Given the description of an element on the screen output the (x, y) to click on. 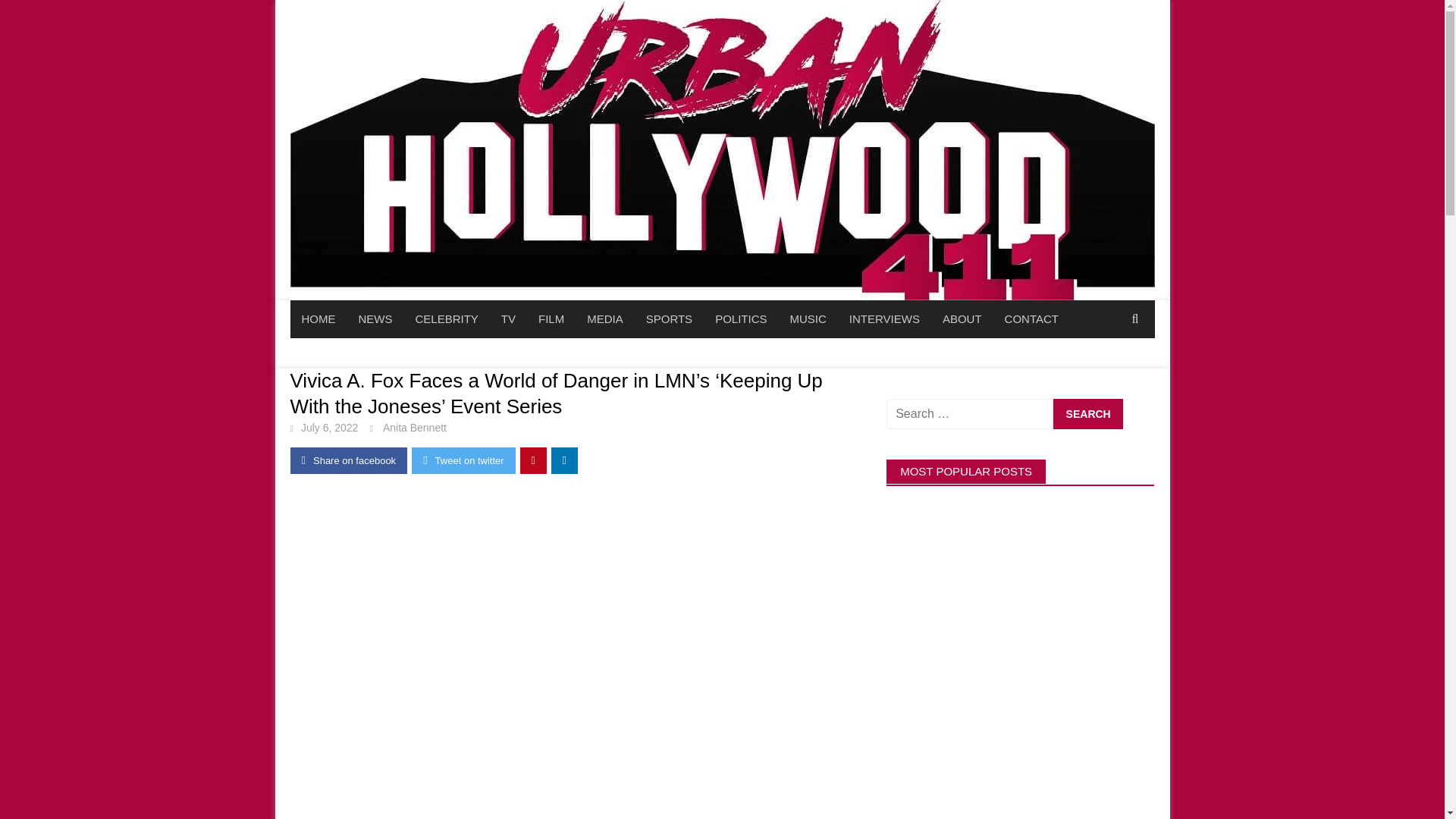
ABOUT (961, 319)
CELEBRITY (446, 319)
NEWS (375, 319)
Anita Bennett (414, 427)
POLITICS (740, 319)
SPORTS (668, 319)
INTERVIEWS (884, 319)
FILM (551, 319)
HOME (317, 319)
MUSIC (807, 319)
